Given the description of an element on the screen output the (x, y) to click on. 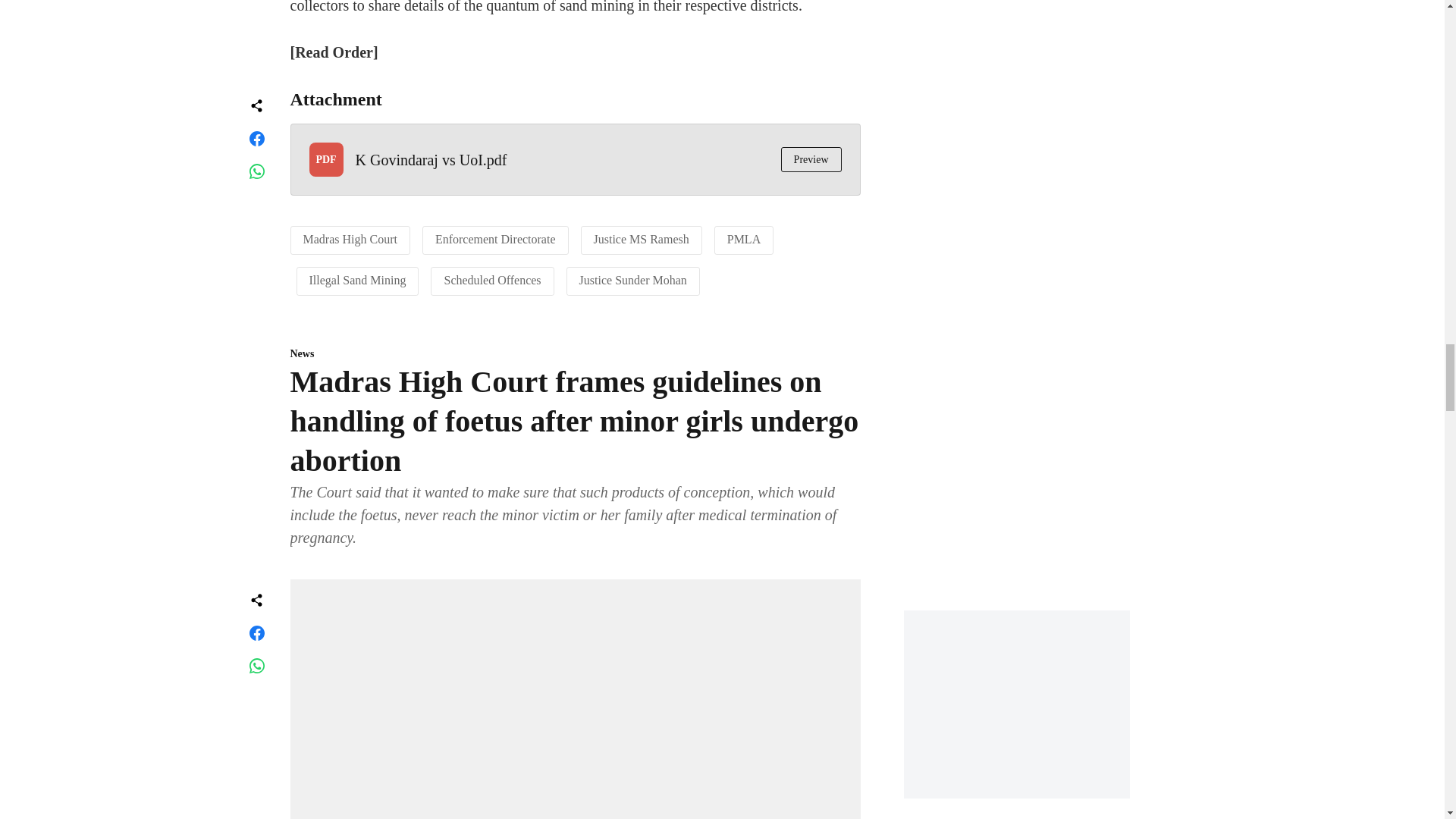
Justice MS Ramesh (641, 238)
Preview (810, 159)
Enforcement Directorate (495, 238)
Madras High Court (349, 238)
